Given the description of an element on the screen output the (x, y) to click on. 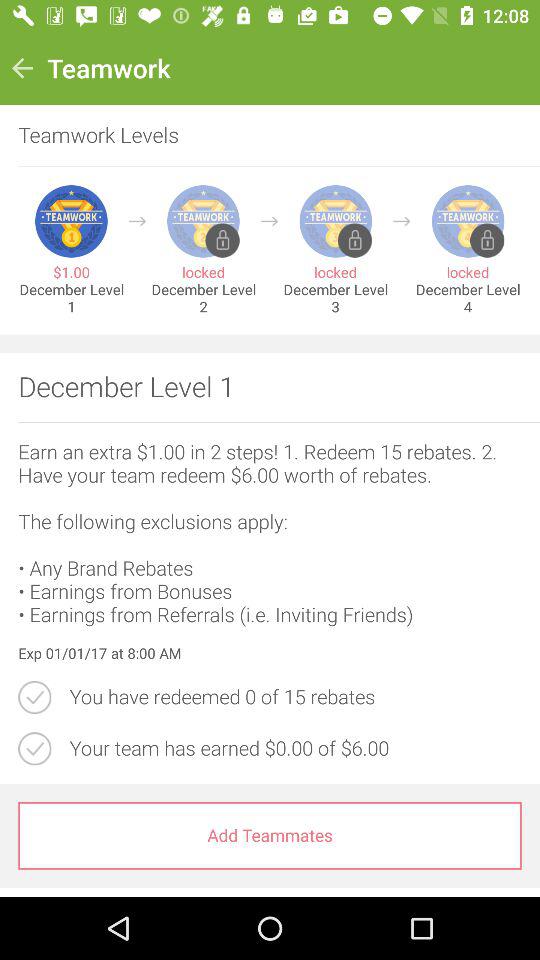
jump until the you have redeemed (295, 697)
